Given the description of an element on the screen output the (x, y) to click on. 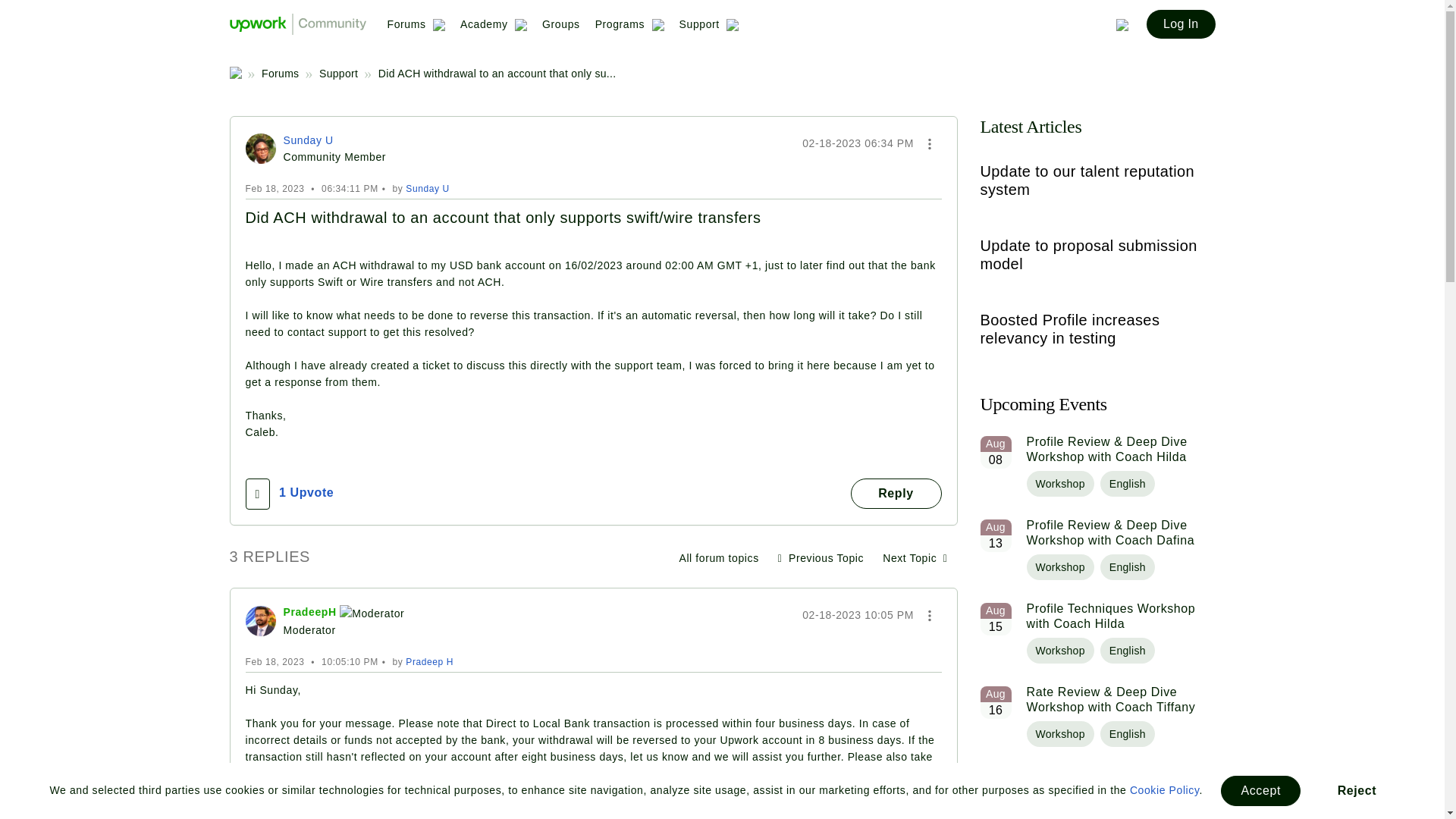
Cookie Policy (1164, 789)
Posted on (858, 614)
Click here to see who gave upvotes to this post. (305, 492)
Accept (1260, 790)
Forums (416, 29)
Posted on (858, 143)
Not able to see my submitted proposals (820, 557)
d4bbd937 (261, 148)
PradeepH (261, 621)
Reject (1356, 790)
